Given the description of an element on the screen output the (x, y) to click on. 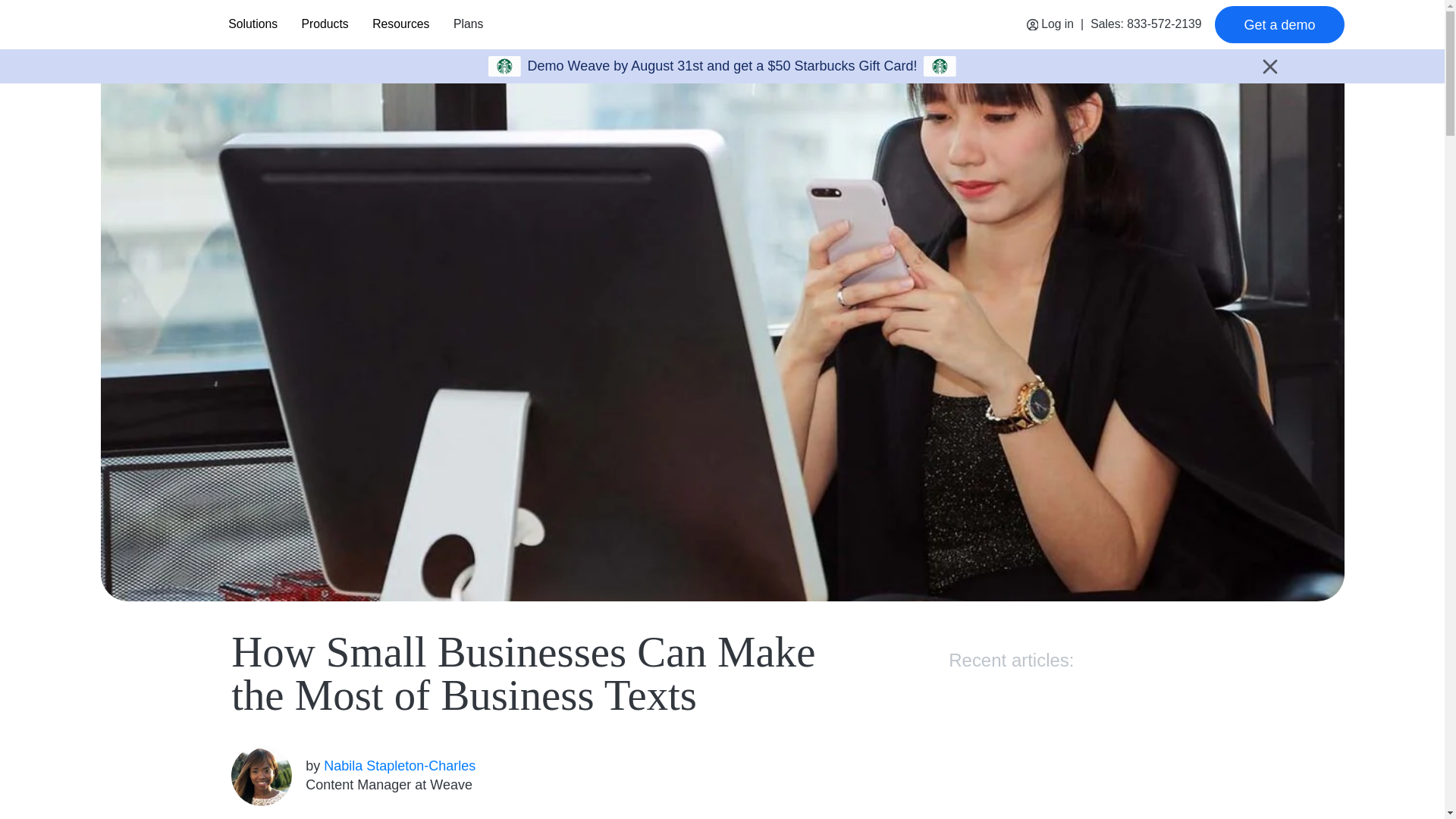
Nabila Stapleton-Charles (399, 765)
Plans (468, 24)
Sales: 833-572-2139 (1145, 23)
Log in (1050, 23)
Get a demo (1278, 24)
